Given the description of an element on the screen output the (x, y) to click on. 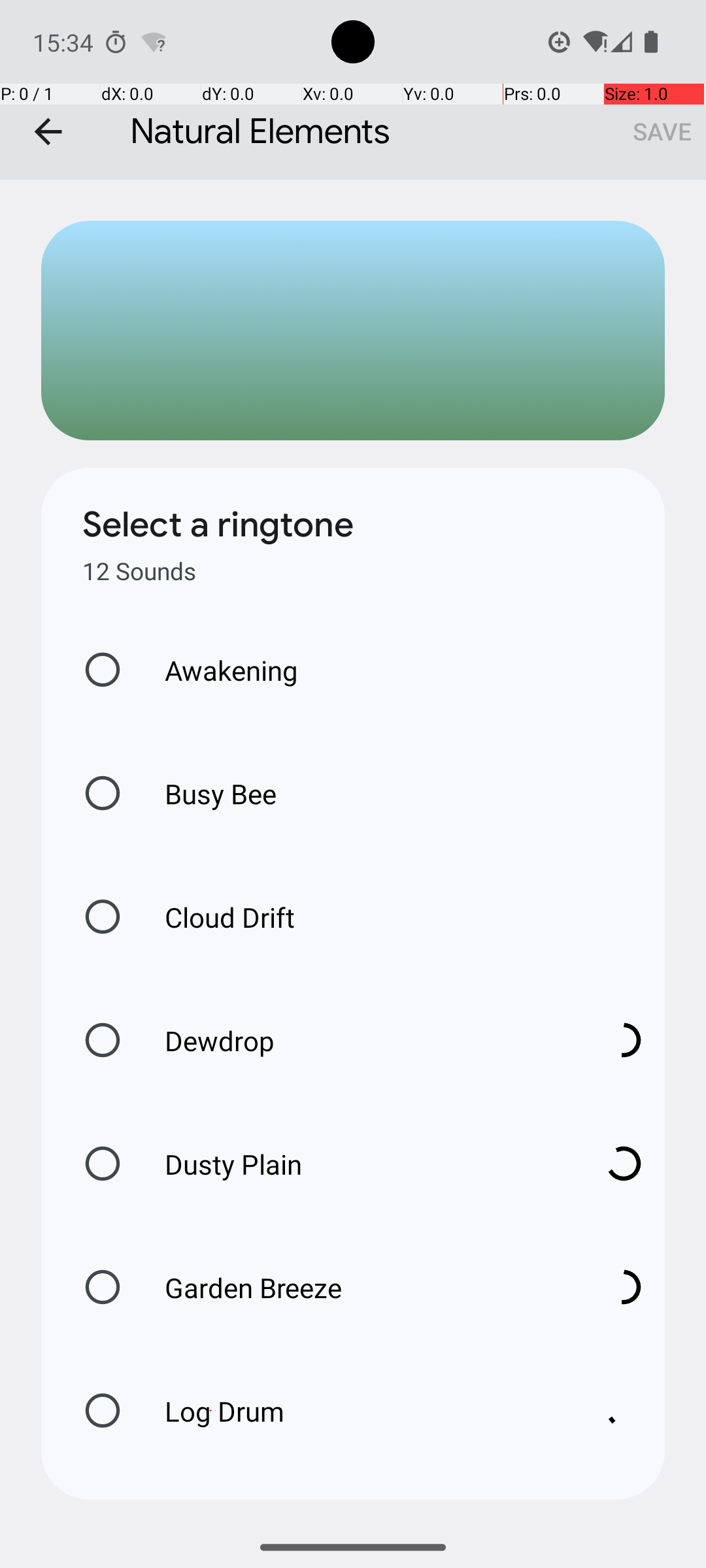
Awakening Element type: android.widget.TextView (217, 669)
Busy Bee Element type: android.widget.TextView (206, 793)
Cloud Drift Element type: android.widget.TextView (215, 916)
Dewdrop Element type: android.widget.TextView (359, 1040)
Dusty Plain Element type: android.widget.TextView (359, 1163)
Garden Breeze Element type: android.widget.TextView (359, 1287)
Log Drum Element type: android.widget.TextView (359, 1410)
